Given the description of an element on the screen output the (x, y) to click on. 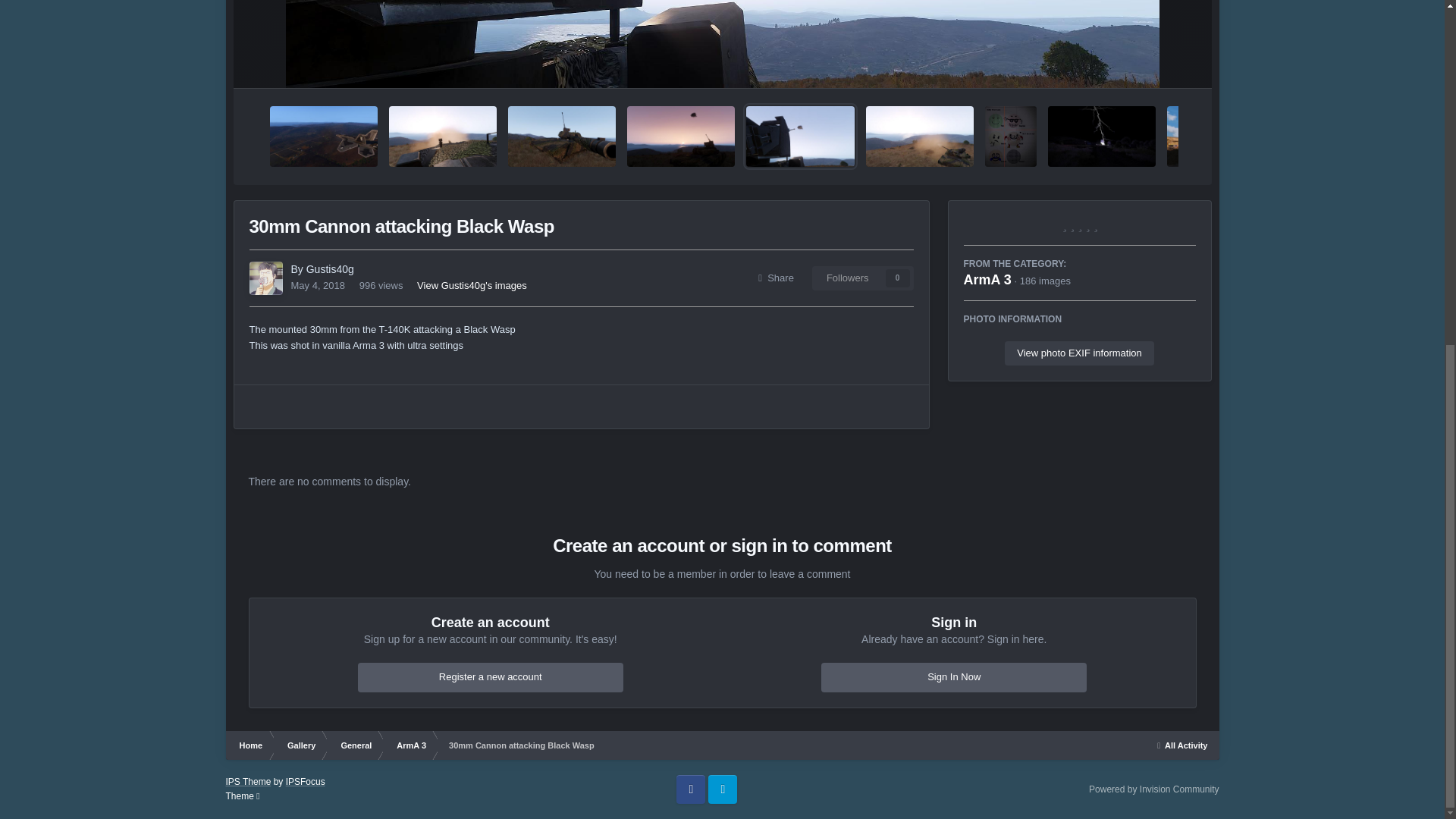
Go to Gustis40g's profile (329, 268)
View the image Angara attacking in the sunset (681, 136)
View the image Angara shooting (920, 136)
View the image Angara from barrel view (561, 136)
View in lightbox (721, 43)
View the image Black Wasp getting shot by a Tigris (323, 136)
View the image ZAP (1102, 136)
View the image Angara shooting at a Slammer UP (442, 136)
Go to Gustis40g's profile (265, 277)
View the image 30mm Cannon attacking Black Wasp (799, 136)
